Given the description of an element on the screen output the (x, y) to click on. 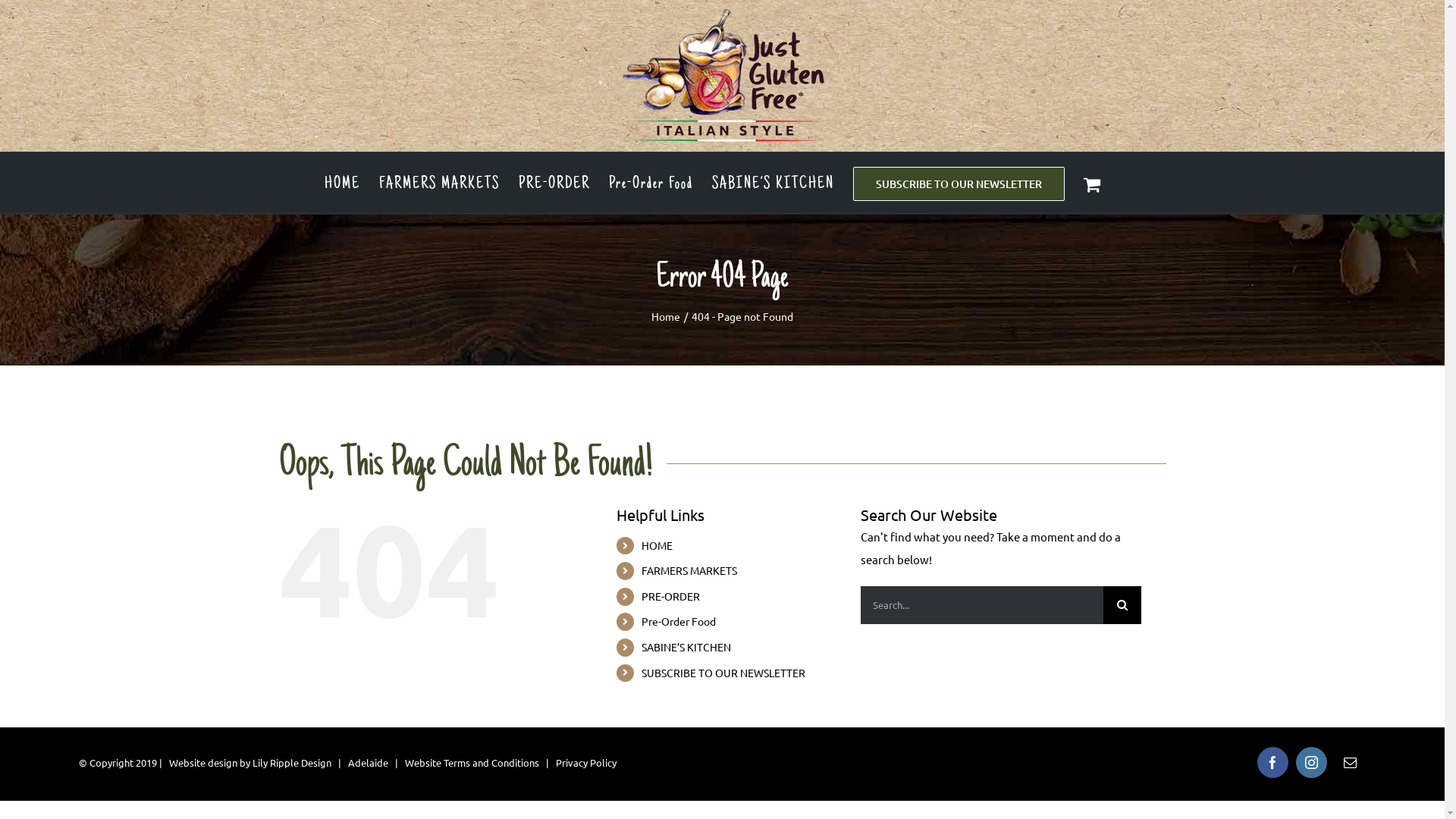
FARMERS MARKETS Element type: text (689, 570)
Home Element type: text (665, 316)
SUBSCRIBE TO OUR NEWSLETTER Element type: text (723, 672)
HOME Element type: text (656, 545)
Email Element type: text (1349, 762)
Facebook Element type: text (1272, 762)
PRE-ORDER Element type: text (670, 595)
HOME Element type: text (342, 182)
Pre-Order Food Element type: text (650, 182)
Lily Ripple Design Element type: text (291, 762)
Website Terms and Conditions Element type: text (471, 762)
Pre-Order Food Element type: text (678, 620)
Instagram Element type: text (1311, 762)
SUBSCRIBE TO OUR NEWSLETTER Element type: text (957, 182)
Privacy Policy Element type: text (585, 762)
FARMERS MARKETS Element type: text (439, 182)
PRE-ORDER Element type: text (553, 182)
